Given the description of an element on the screen output the (x, y) to click on. 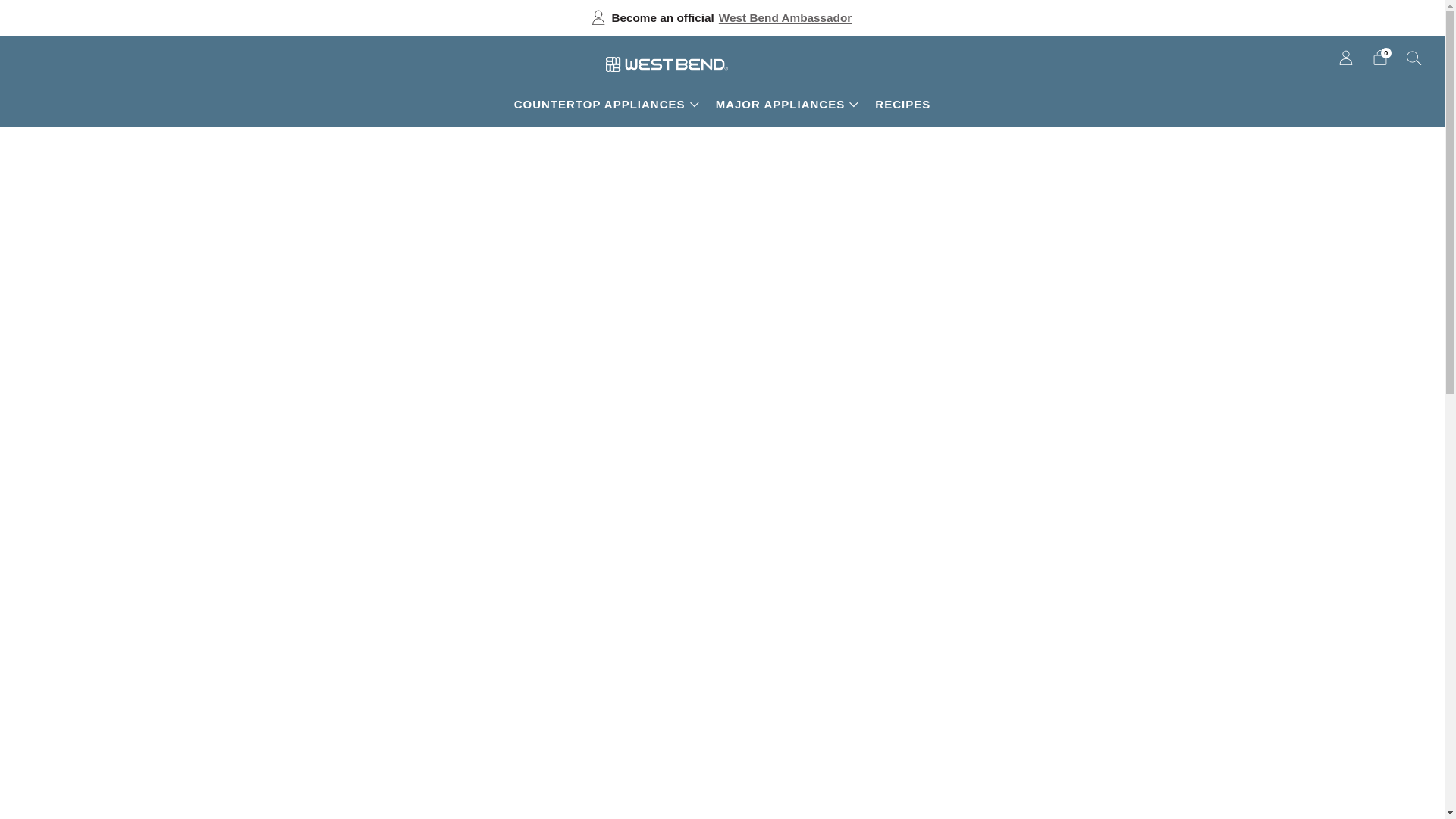
0 (1380, 57)
MAJOR APPLIANCES (787, 104)
West Bend Ambassador (785, 17)
RECIPES (902, 104)
COUNTERTOP APPLIANCES (605, 104)
